Given the description of an element on the screen output the (x, y) to click on. 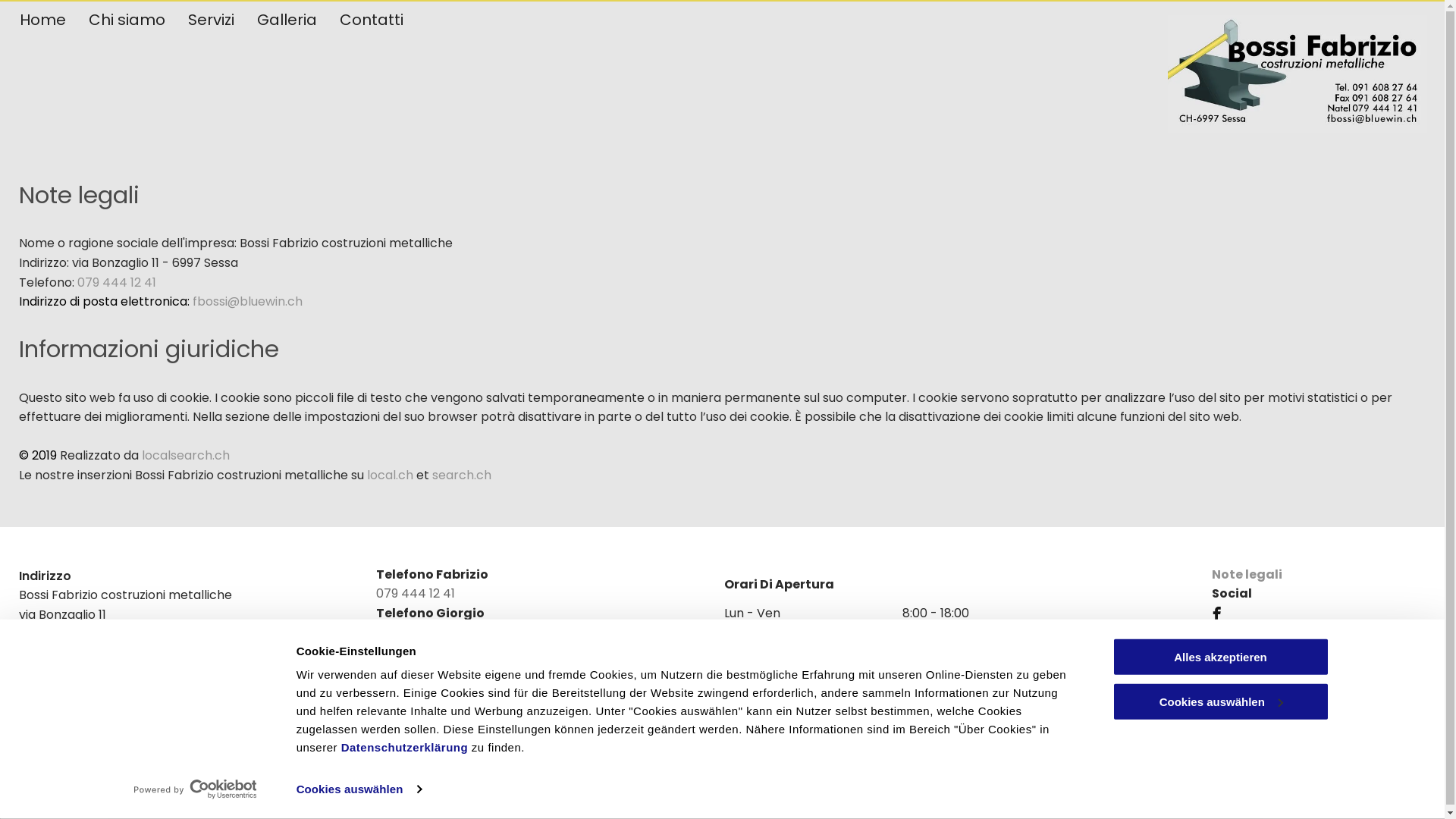
Galleria Element type: text (286, 18)
079 444 12 41 Element type: text (415, 593)
Contatti Element type: text (371, 18)
local.ch Element type: text (390, 474)
079 444 12 41 Element type: text (116, 282)
fbossi@bluewin.ch Element type: text (247, 301)
localsearch.ch Element type: text (185, 455)
fbossi@bluewin.ch Element type: text (431, 709)
Servizi Element type: text (211, 18)
search.ch Element type: text (461, 474)
Alles akzeptieren Element type: text (1219, 656)
079 263 74 23 Element type: text (417, 631)
Informativa sulla protezione dei dati Element type: text (396, 804)
Home Element type: text (42, 18)
Note legali Element type: text (1246, 574)
Chi siamo Element type: text (126, 18)
